Given the description of an element on the screen output the (x, y) to click on. 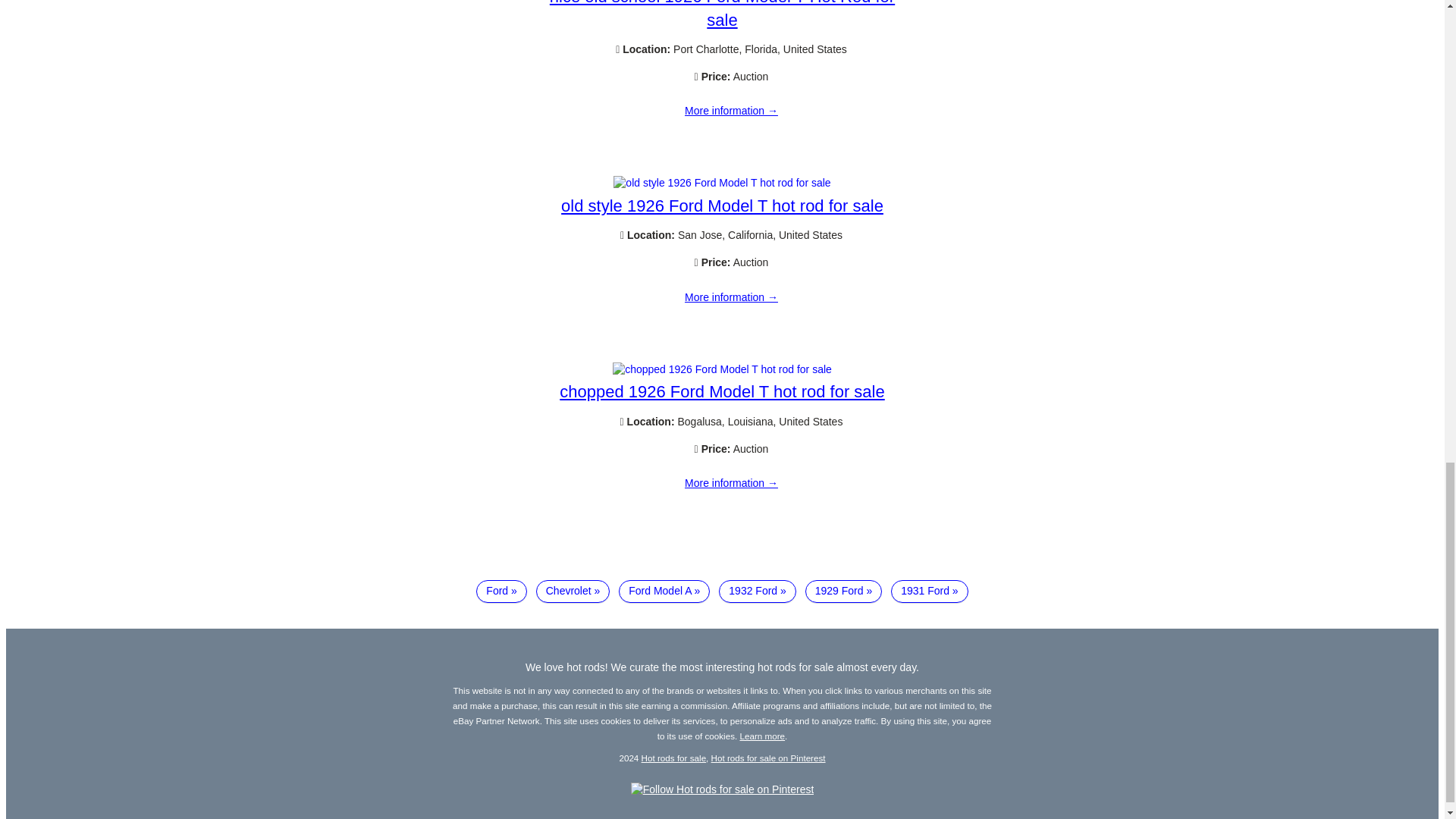
old style 1926 Ford Model T hot rod for sale (721, 205)
Chevrolet (572, 590)
Follow Hot rods for sale on Pinterest (721, 788)
chopped 1926 Ford Model T hot rod for sale (721, 391)
old style 1926 Ford Model T hot rod for sale (731, 297)
nice old school 1926 Ford Model T Hot Rod for sale (731, 111)
Learn more (762, 736)
old style 1926 Ford Model T hot rod for sale (720, 182)
1929 Ford (843, 590)
nice old school 1926 Ford Model T Hot Rod for sale (722, 14)
chopped 1926 Ford Model T hot rod for sale (721, 369)
1931 Ford (929, 590)
Hot rods for sale (674, 757)
Ford Model A (664, 590)
Hot rods for sale on Pinterest (768, 757)
